Given the description of an element on the screen output the (x, y) to click on. 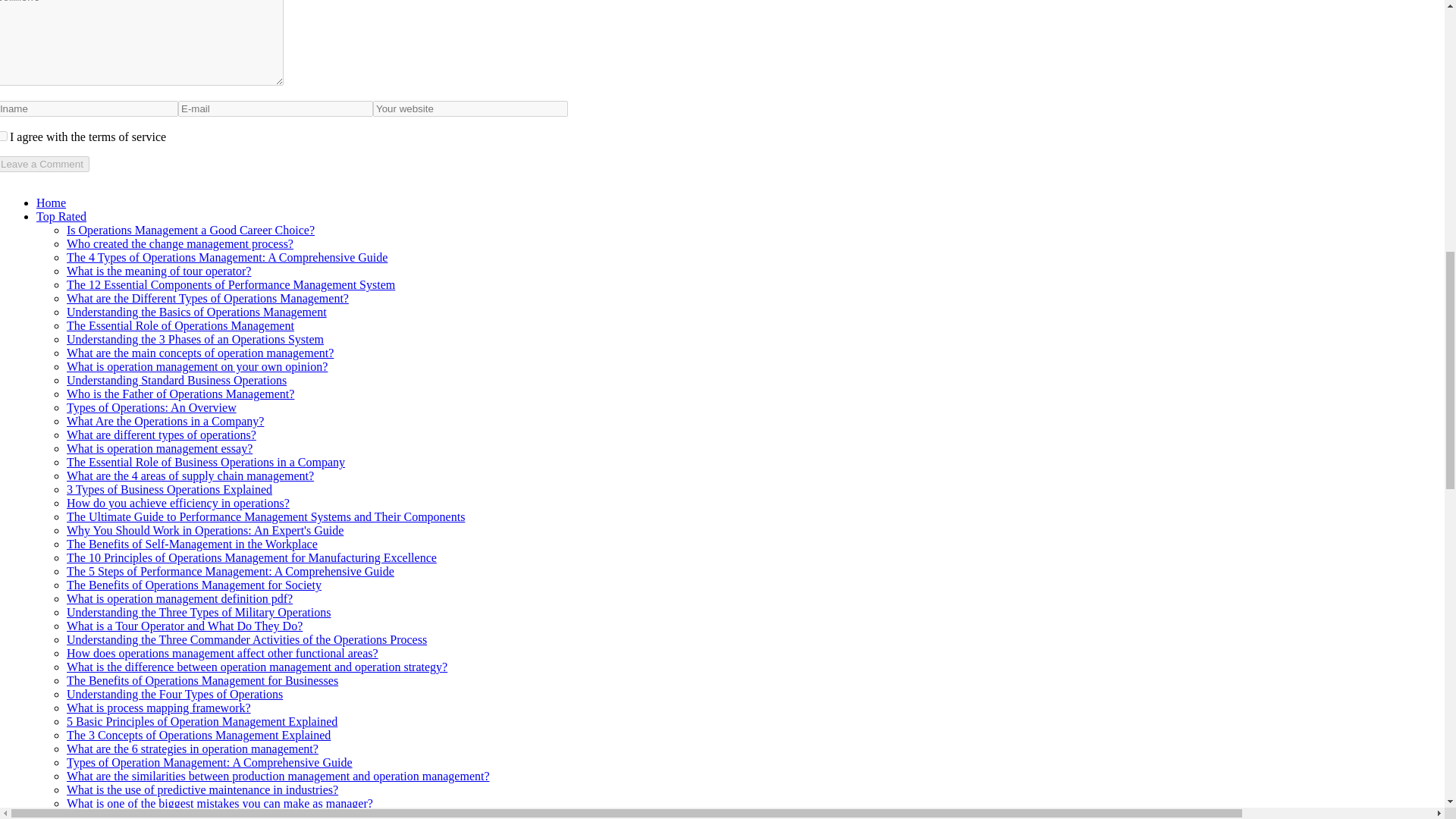
Who created the change management process? (180, 243)
Leave a Comment (44, 163)
What is operation management on your own opinion? (196, 366)
Understanding the 3 Phases of an Operations System (194, 338)
The 4 Types of Operations Management: A Comprehensive Guide (226, 256)
Understanding the Basics of Operations Management (196, 311)
What are the Different Types of Operations Management? (207, 297)
The 12 Essential Components of Performance Management System (230, 284)
Top Rated (60, 215)
Home (50, 202)
